Given the description of an element on the screen output the (x, y) to click on. 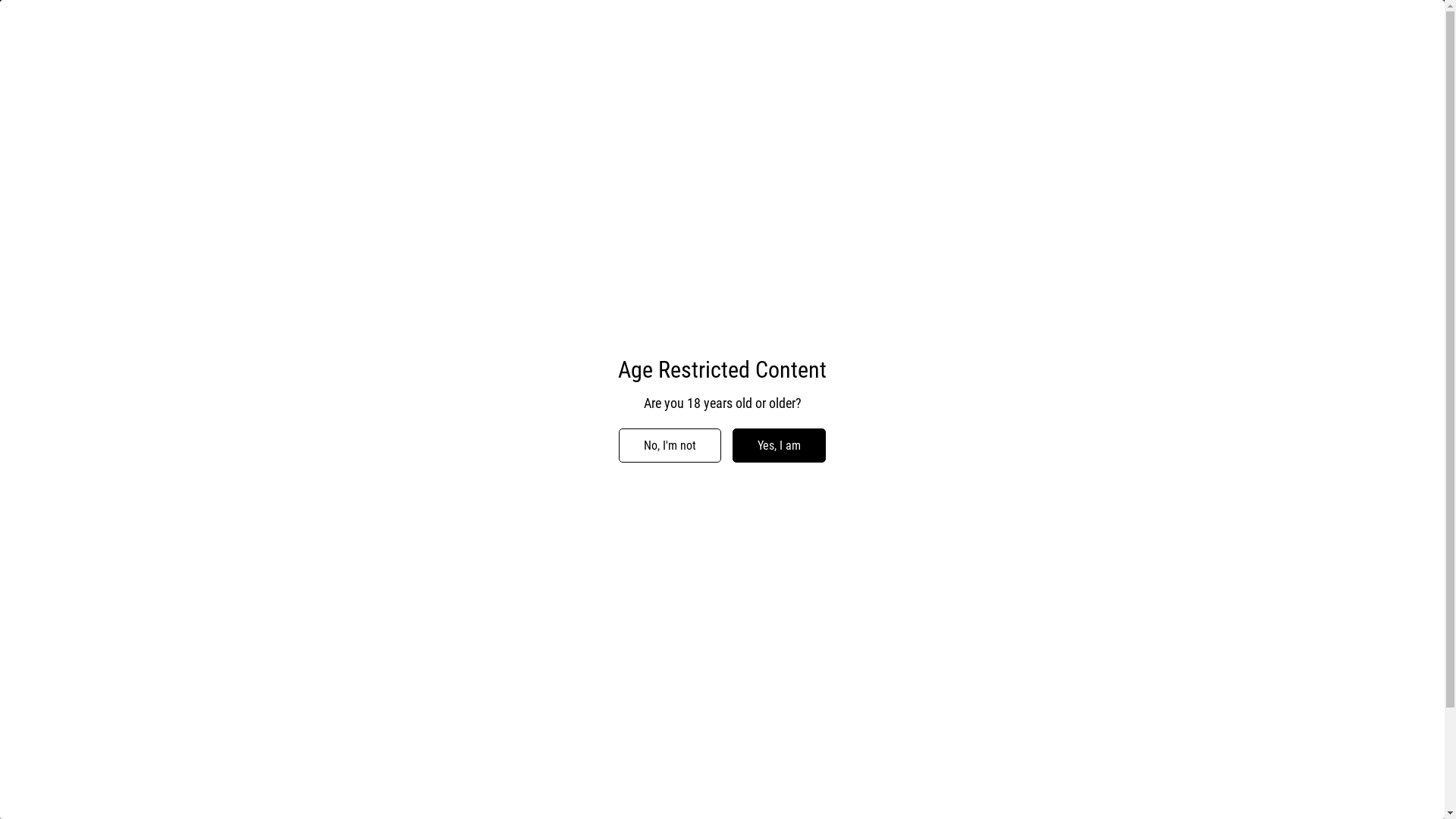
Privacy Policy Element type: text (771, 771)
1300 133 993 Element type: text (1194, 799)
VAPING PARTS & ACCESSORY Element type: text (711, 84)
DIY VAPING Element type: text (848, 84)
HOMEWARE Element type: text (1069, 84)
FAQ's Element type: text (750, 797)
Yes, I am Element type: text (778, 445)
VAPE DEVICES Element type: text (486, 84)
MyVapeClub Element type: text (162, 84)
HEMP ACCESSORY Element type: text (958, 84)
NEW ARRIVALS Element type: text (384, 84)
1300 133 993 Element type: text (145, 44)
Go to Home Element type: text (722, 476)
Terms & Conditions Of Sale Element type: text (803, 745)
ELIQUIDS Element type: text (580, 84)
No, I'm not Element type: text (669, 445)
Find a Store Element type: text (1301, 44)
